Given the description of an element on the screen output the (x, y) to click on. 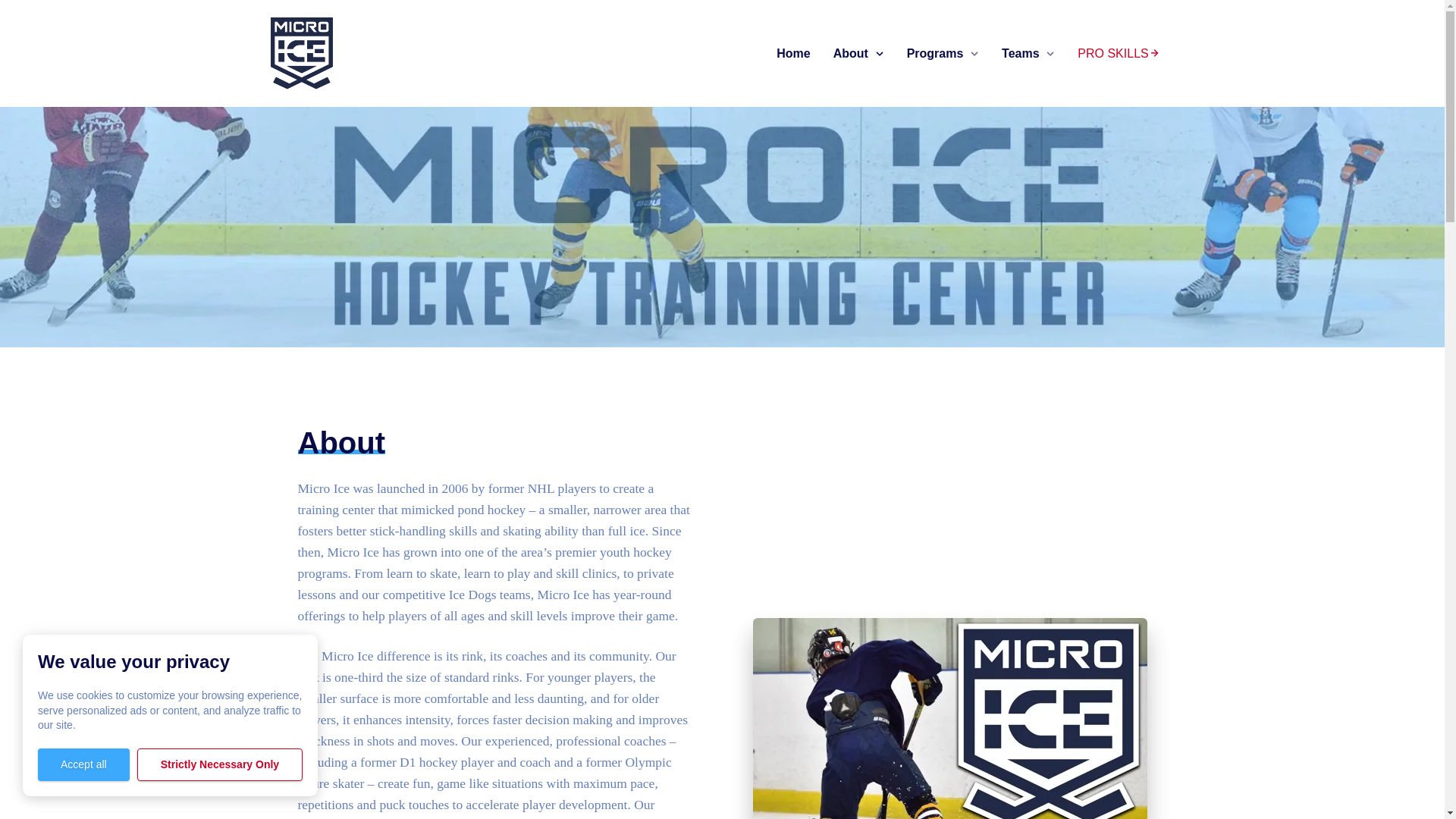
Teams (1020, 53)
About (849, 53)
PRO SKILLS (1117, 53)
Home (792, 53)
Programs (935, 53)
